Given the description of an element on the screen output the (x, y) to click on. 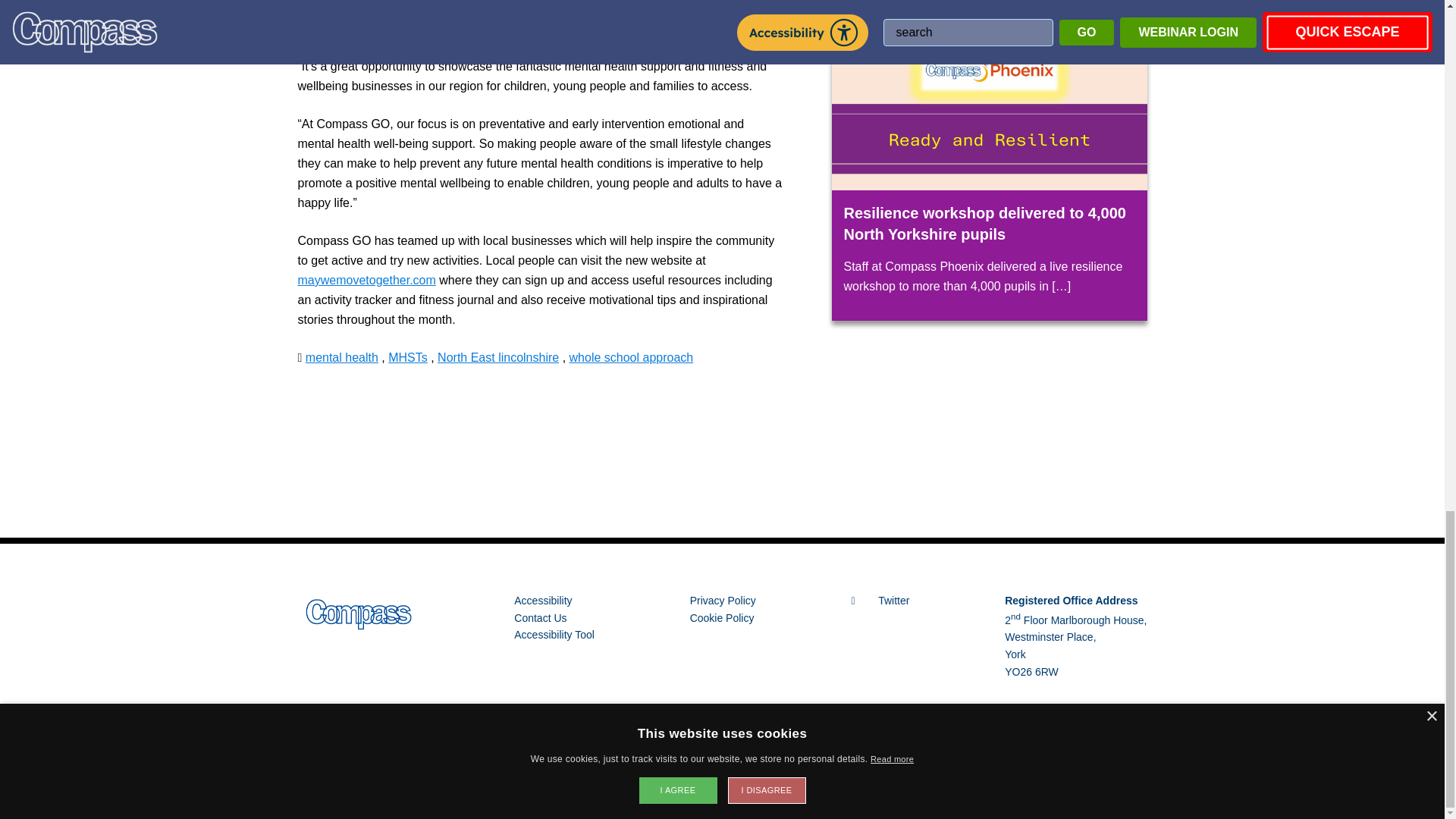
North East lincolnshire (498, 357)
whole school approach (631, 357)
Accessibility (542, 600)
mental health (341, 357)
Cookie Policy (722, 617)
maywemovetogether.com (366, 279)
Privacy Policy (722, 600)
Accessibility Tool (553, 634)
Twitter (880, 600)
MHSTs (408, 357)
Contact Us (539, 617)
